Given the description of an element on the screen output the (x, y) to click on. 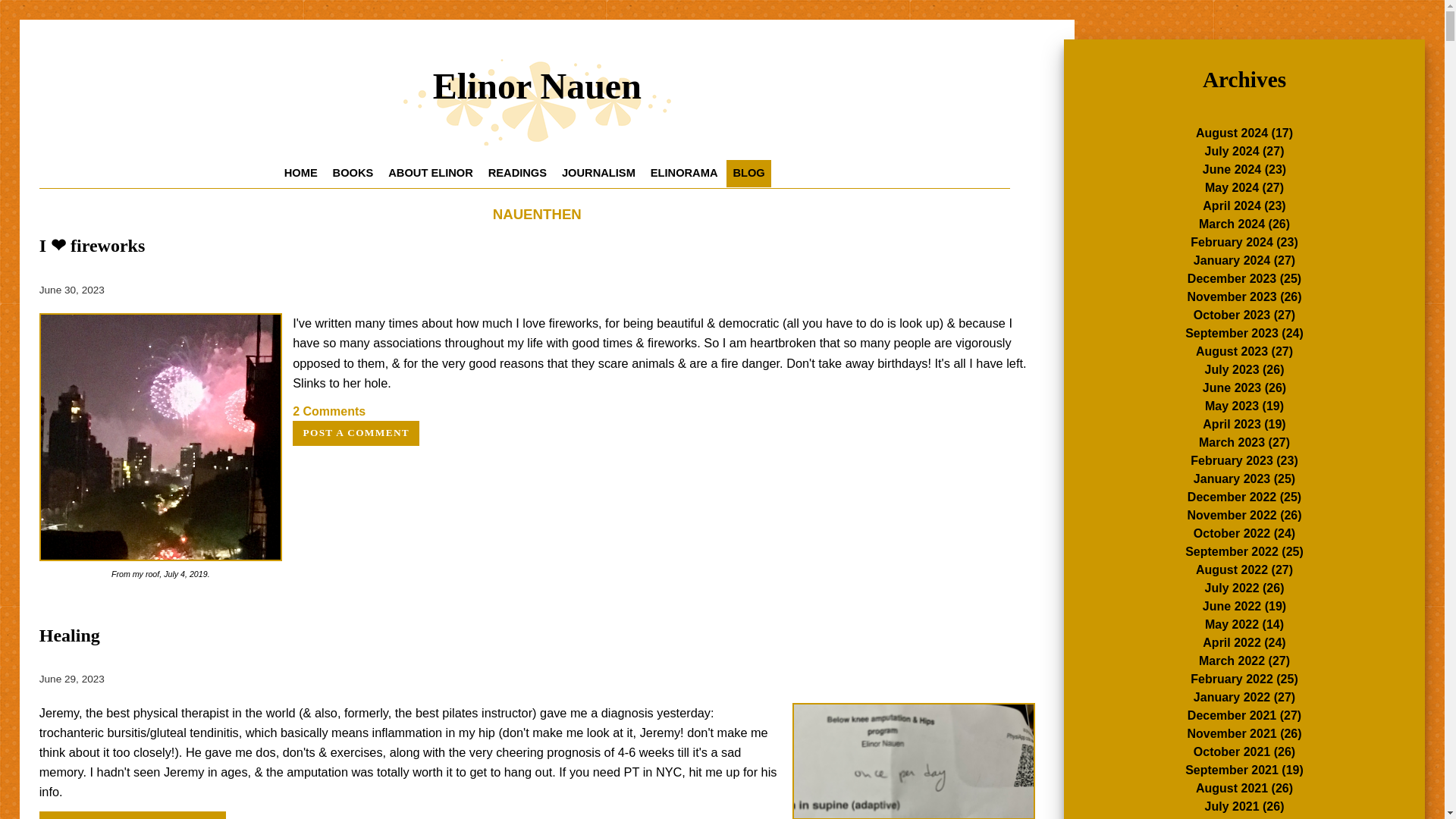
HOME (300, 172)
READINGS (517, 172)
ELINORAMA (684, 172)
2 Comments (328, 410)
ABOUT ELINOR (430, 172)
BLOG (748, 172)
BOOKS (353, 172)
Healing (69, 635)
Elinor Nauen (537, 100)
POST A COMMENT (355, 432)
